Given the description of an element on the screen output the (x, y) to click on. 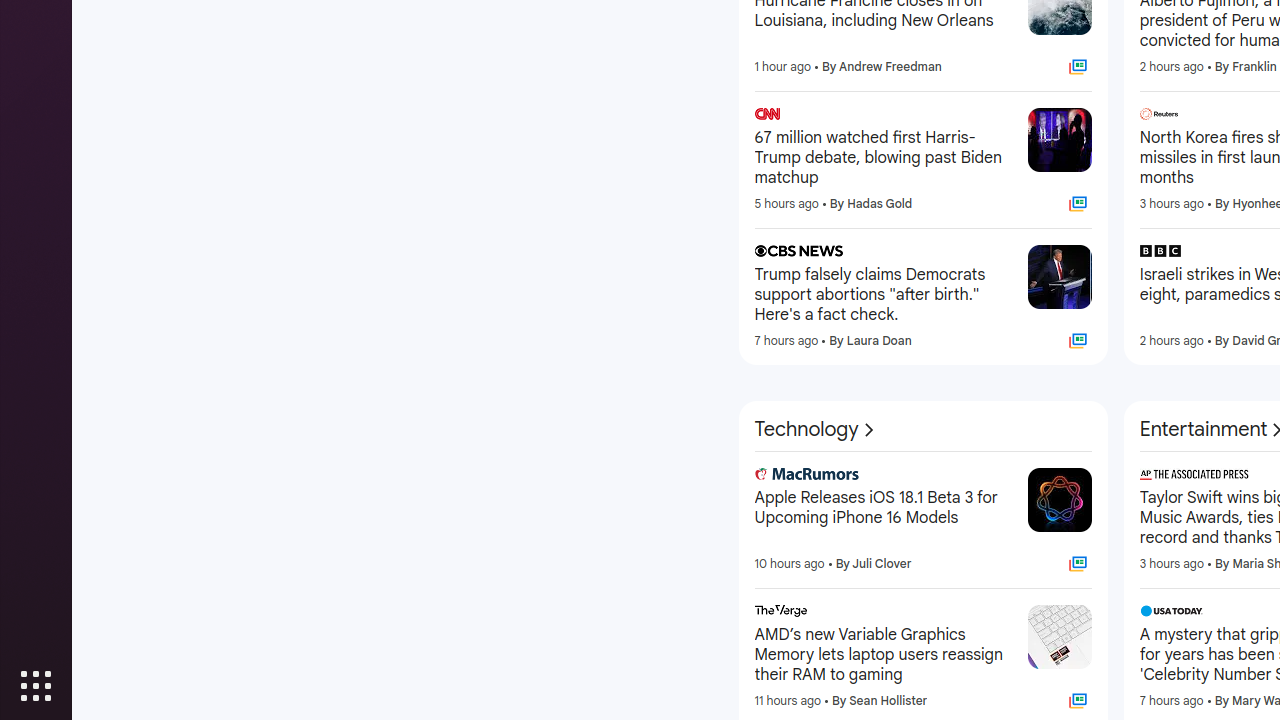
More - Apple Releases iOS 18.1 Beta 3 for Upcoming iPhone 16 Models Element type: push-button (1005, 477)
More - 67 million watched first Harris-Trump debate, blowing past Biden matchup Element type: push-button (1005, 117)
Apple Releases iOS 18.1 Beta 3 for Upcoming iPhone 16 Models Element type: link (883, 518)
Show Applications Element type: toggle-button (36, 686)
67 million watched first Harris-Trump debate, blowing past Biden matchup Element type: link (883, 158)
